Given the description of an element on the screen output the (x, y) to click on. 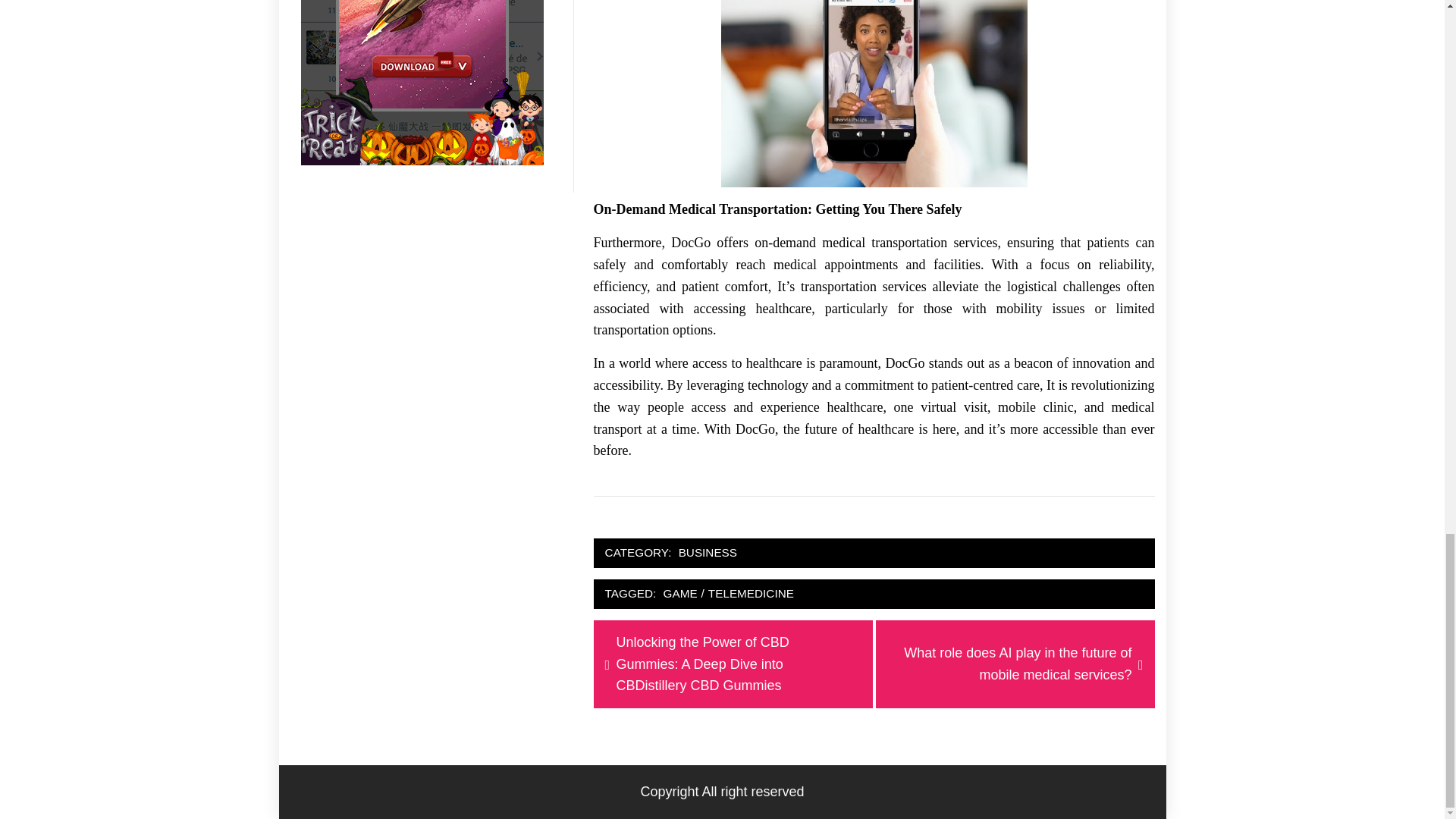
TELEMEDICINE (750, 594)
GAME (680, 594)
BUSINESS (708, 553)
